Given the description of an element on the screen output the (x, y) to click on. 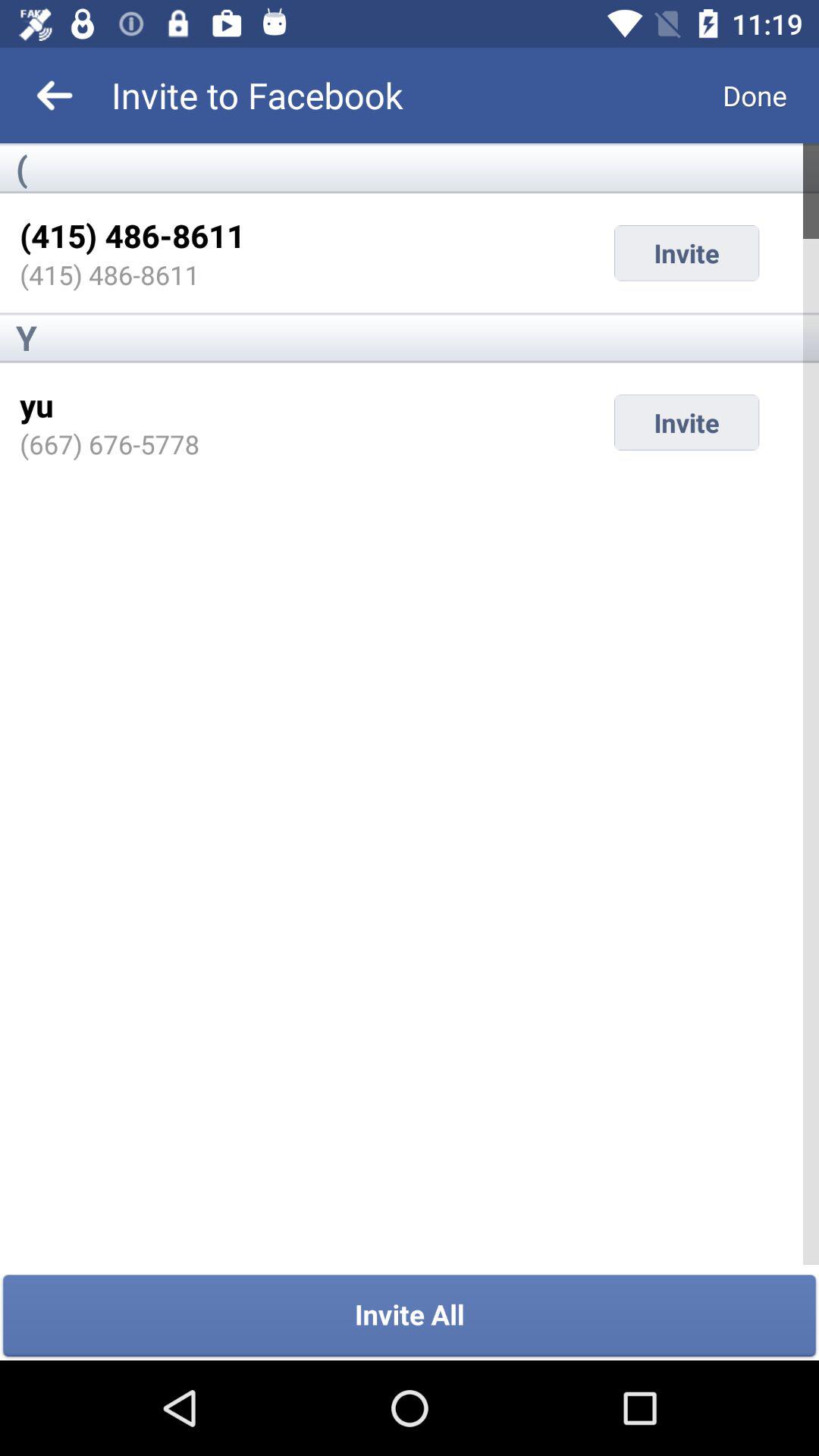
tap (667) 676-5778 item (109, 443)
